Given the description of an element on the screen output the (x, y) to click on. 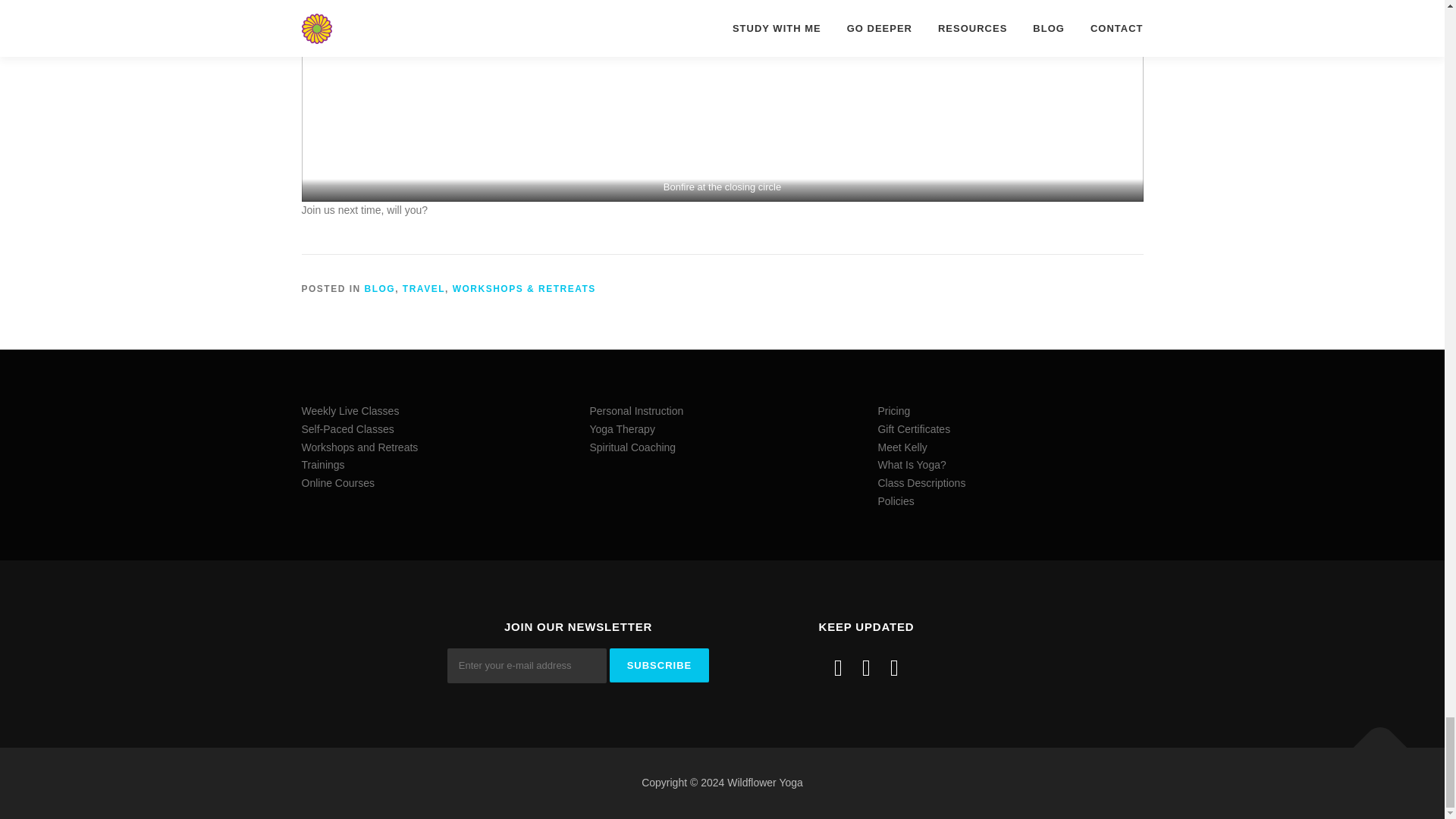
Back To Top (1372, 740)
Subscribe (660, 665)
